Given the description of an element on the screen output the (x, y) to click on. 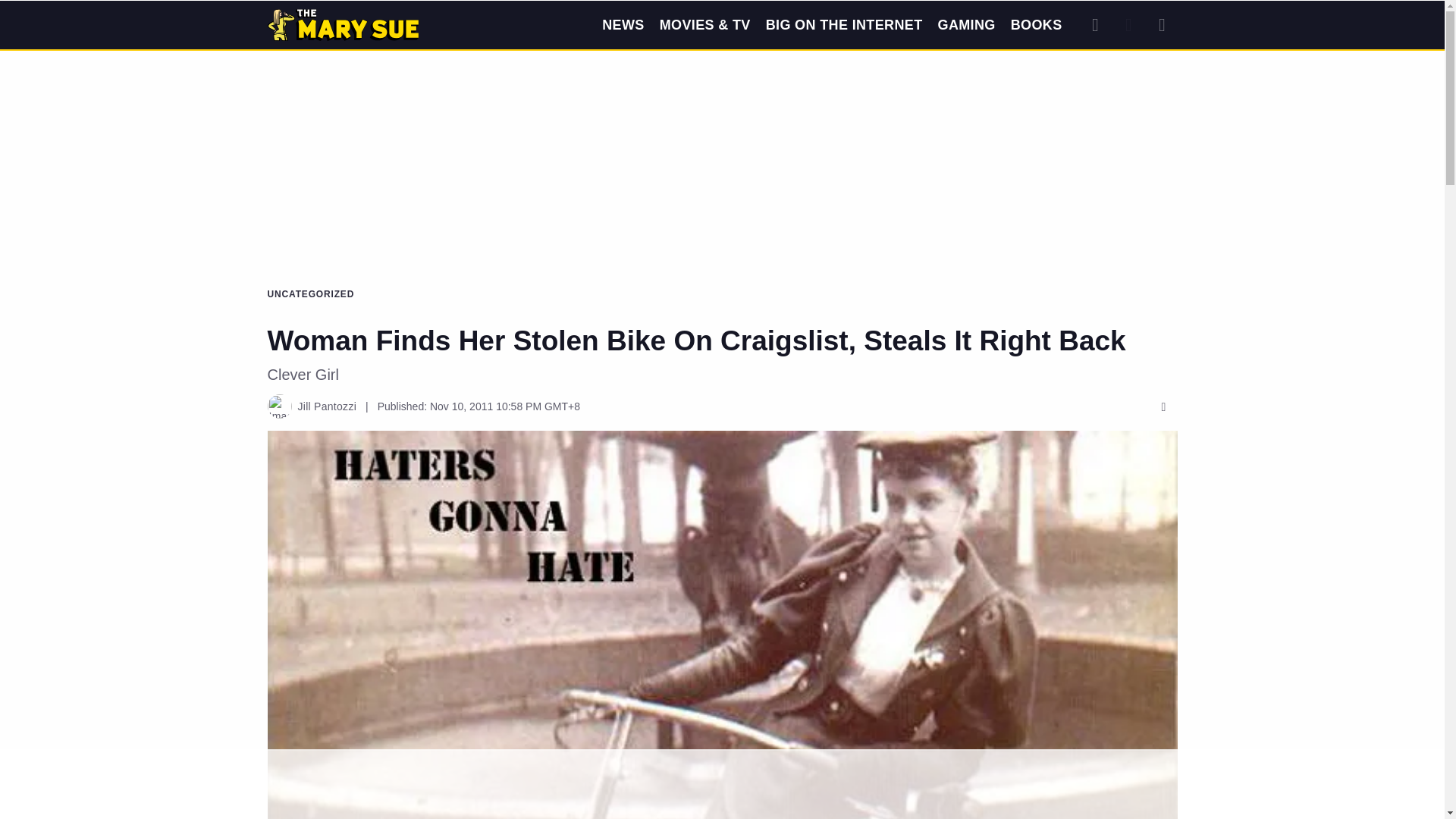
BOOKS (1036, 24)
BIG ON THE INTERNET (844, 24)
3rd party ad content (721, 785)
Dark Mode (1127, 24)
GAMING (966, 24)
Expand Menu (1161, 24)
Search (1094, 24)
3rd party ad content (721, 109)
NEWS (622, 24)
